Given the description of an element on the screen output the (x, y) to click on. 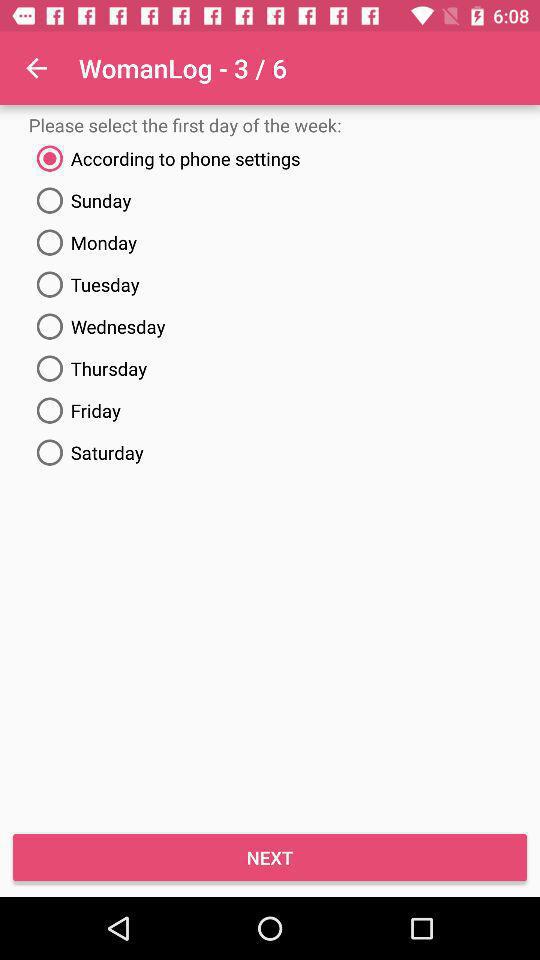
select item below the according to phone (269, 200)
